Given the description of an element on the screen output the (x, y) to click on. 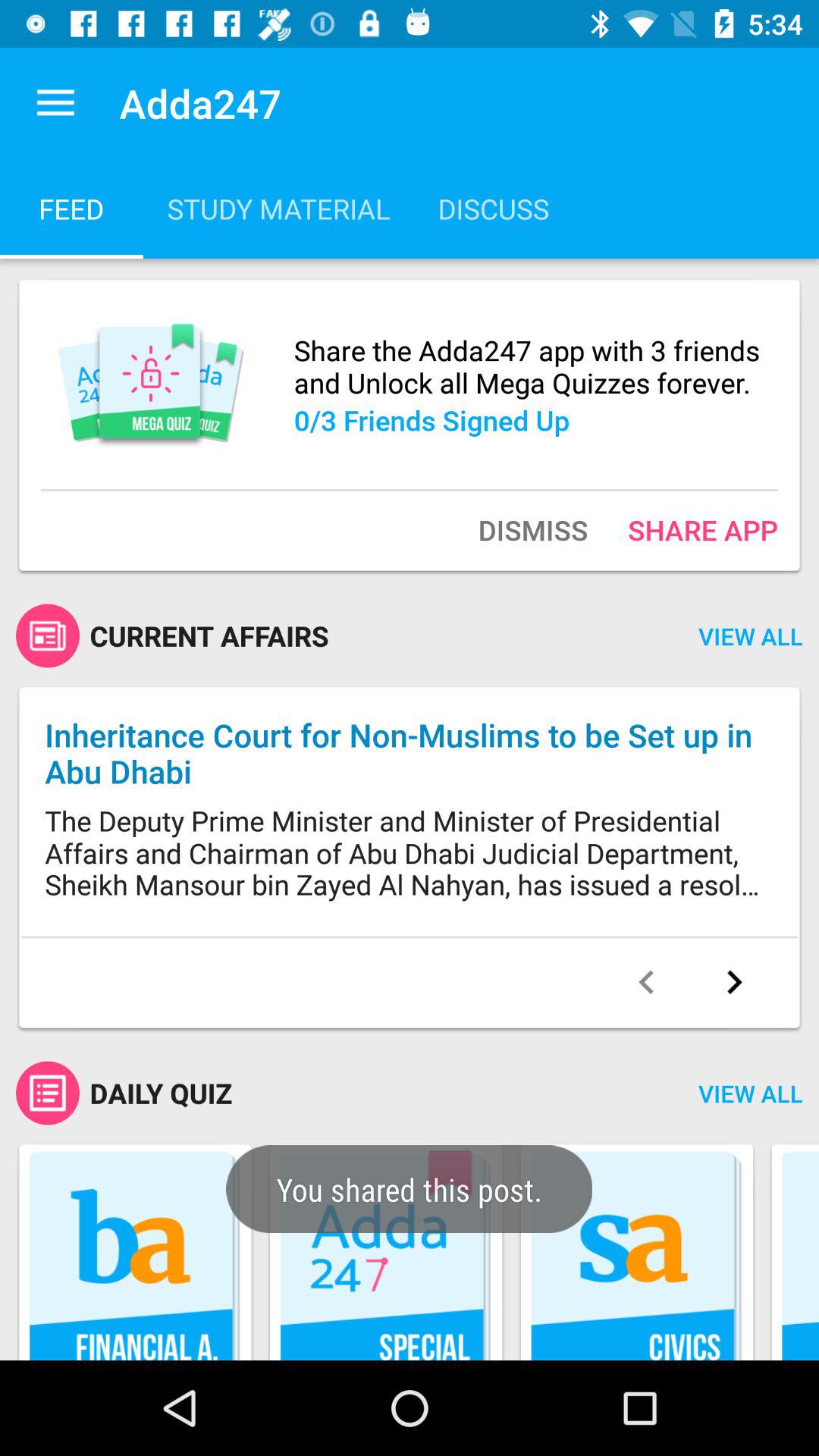
back face (646, 982)
